Given the description of an element on the screen output the (x, y) to click on. 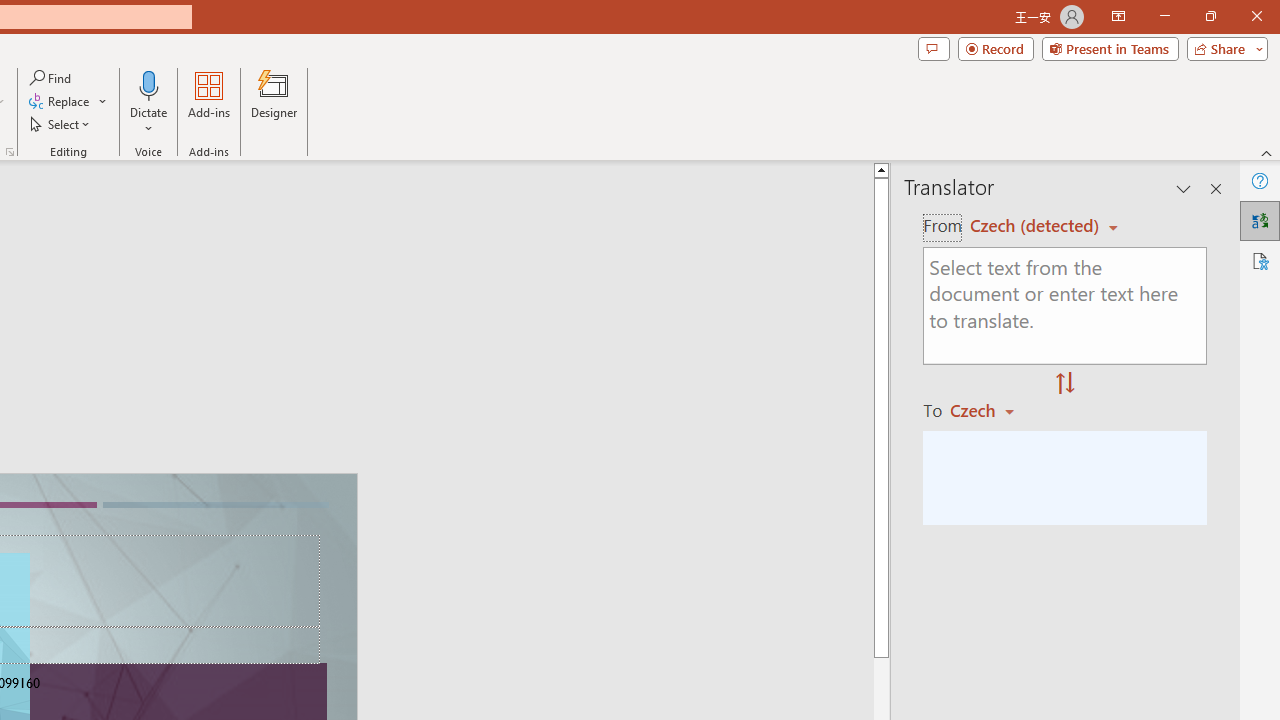
Czech (detected) (1037, 225)
Czech (991, 409)
